Given the description of an element on the screen output the (x, y) to click on. 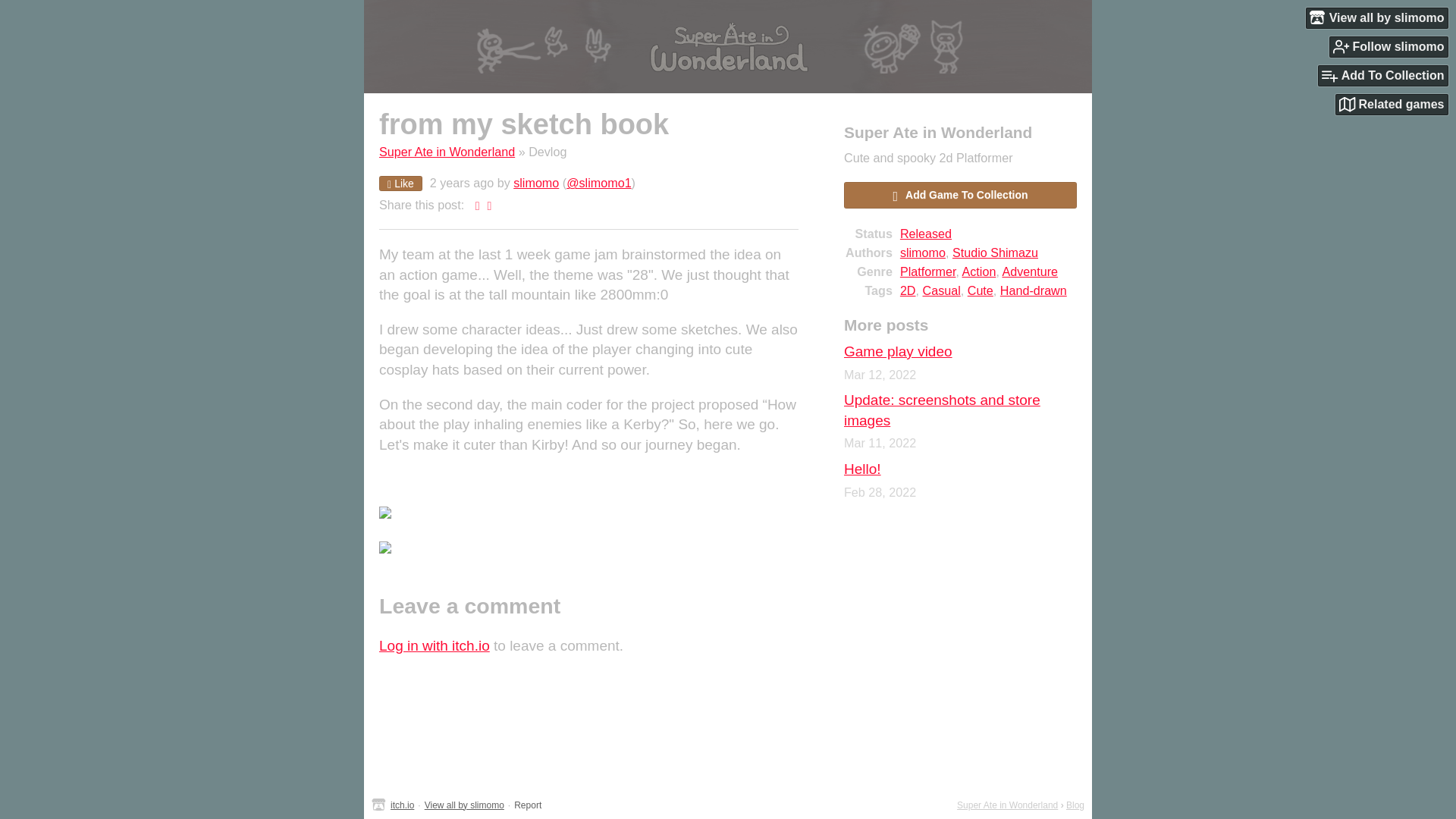
Like (400, 183)
Cute (980, 290)
Adventure (1029, 271)
Super Ate in Wonderland (1007, 804)
View all by slimomo (464, 804)
Follow slimomo (1388, 46)
2D (907, 290)
View all by slimomo (1377, 17)
Hello! (862, 468)
Casual (940, 290)
